Given the description of an element on the screen output the (x, y) to click on. 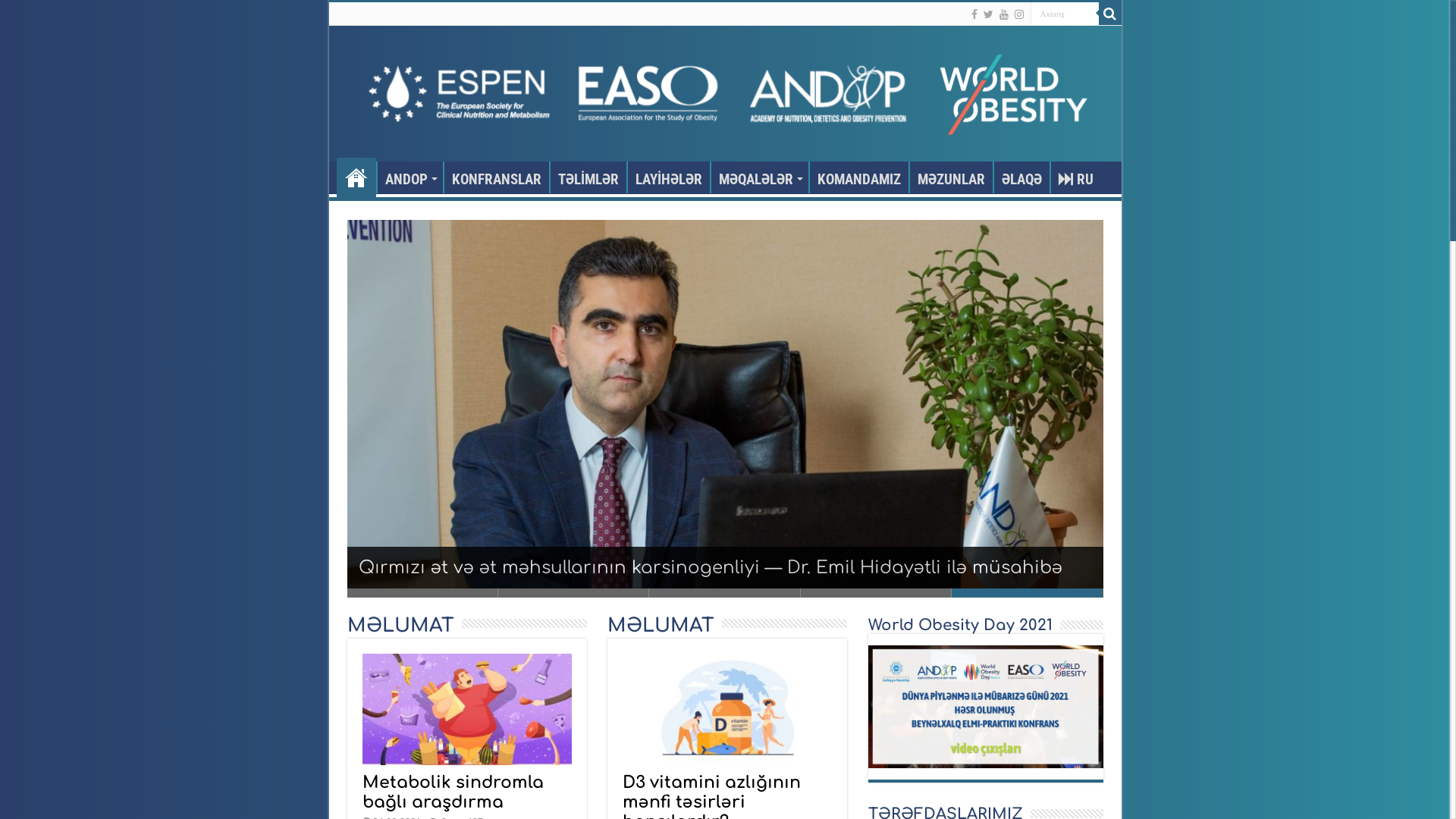
ANDOP Element type: text (409, 177)
RU Element type: text (1074, 177)
4 Element type: text (875, 593)
ANDOP Element type: hover (725, 93)
Youtube Element type: hover (1003, 14)
3 Element type: text (724, 593)
KOMANDAMIZ Element type: text (857, 177)
Facebook Element type: hover (973, 14)
1 Element type: text (422, 593)
KONFRANSLAR Element type: text (495, 177)
instagram Element type: hover (1019, 14)
2 Element type: text (573, 593)
5 Element type: text (1026, 593)
Twitter Element type: hover (987, 14)
